Given the description of an element on the screen output the (x, y) to click on. 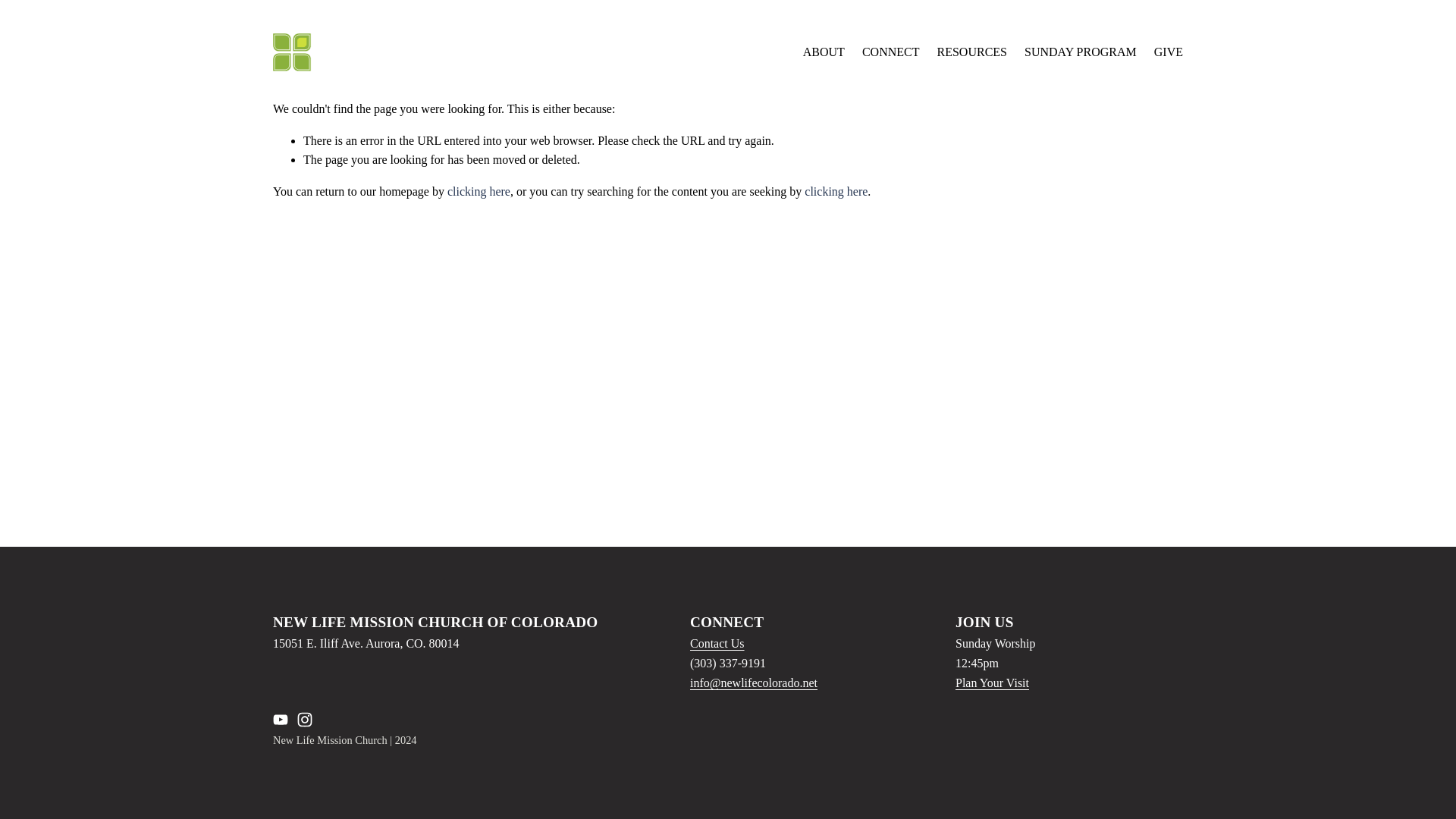
GIVE (1168, 52)
CONNECT (890, 52)
ABOUT (823, 52)
SUNDAY PROGRAM (1081, 52)
RESOURCES (972, 52)
